Given the description of an element on the screen output the (x, y) to click on. 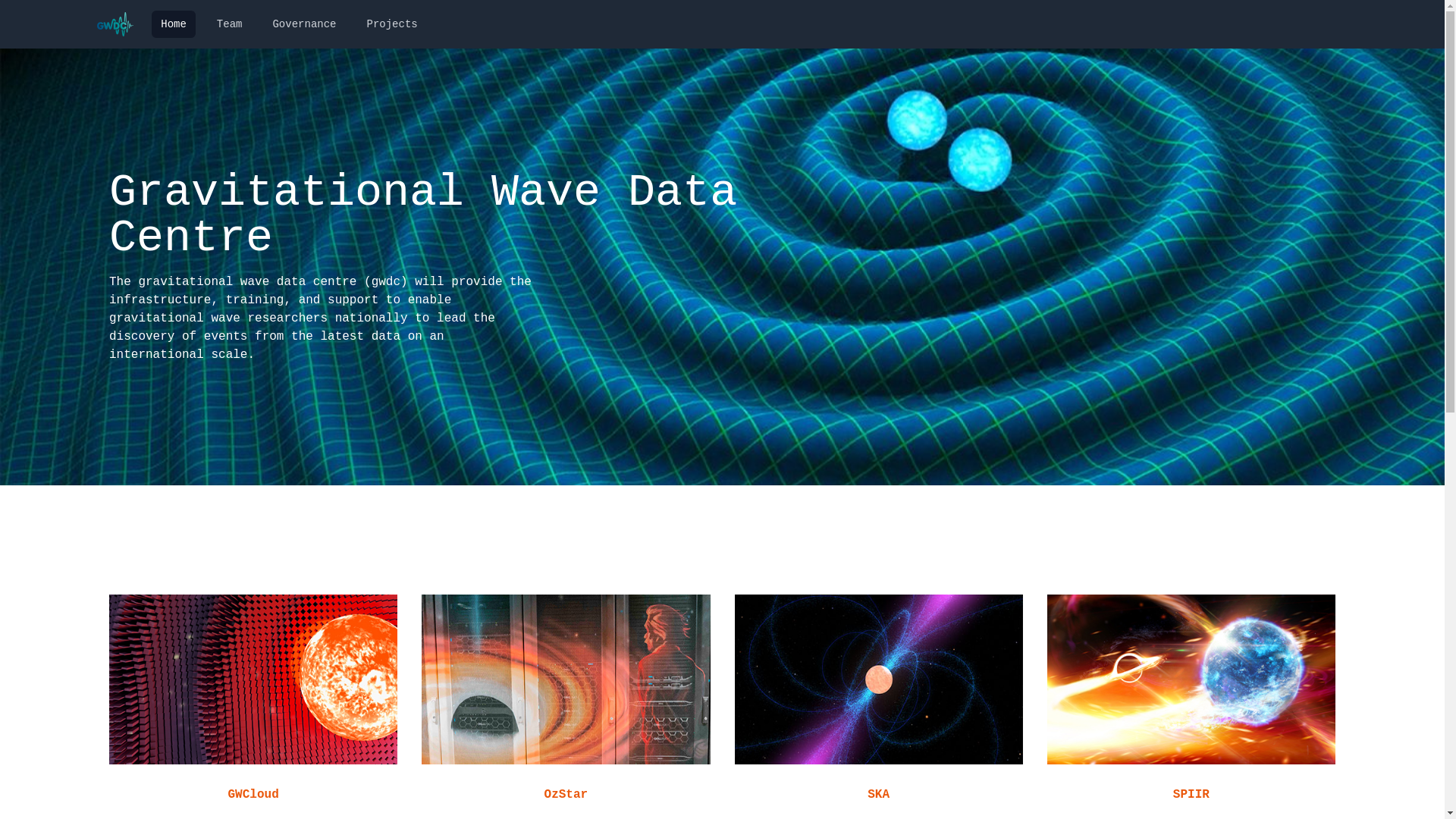
Team Element type: text (229, 23)
Home Element type: text (173, 23)
Open project menu
Projects Element type: text (391, 23)
Governance Element type: text (304, 23)
